Given the description of an element on the screen output the (x, y) to click on. 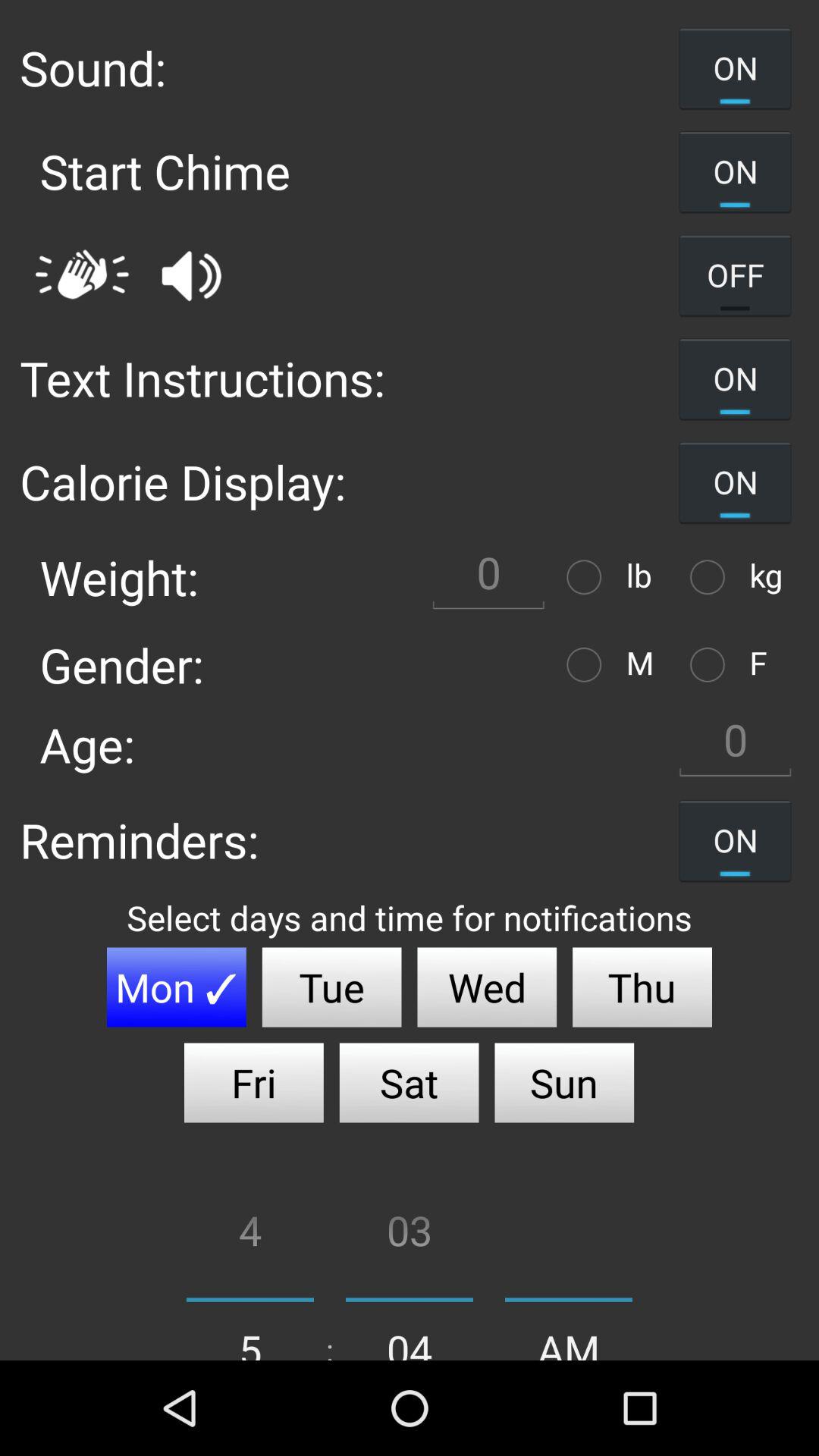
enter box (488, 577)
